Given the description of an element on the screen output the (x, y) to click on. 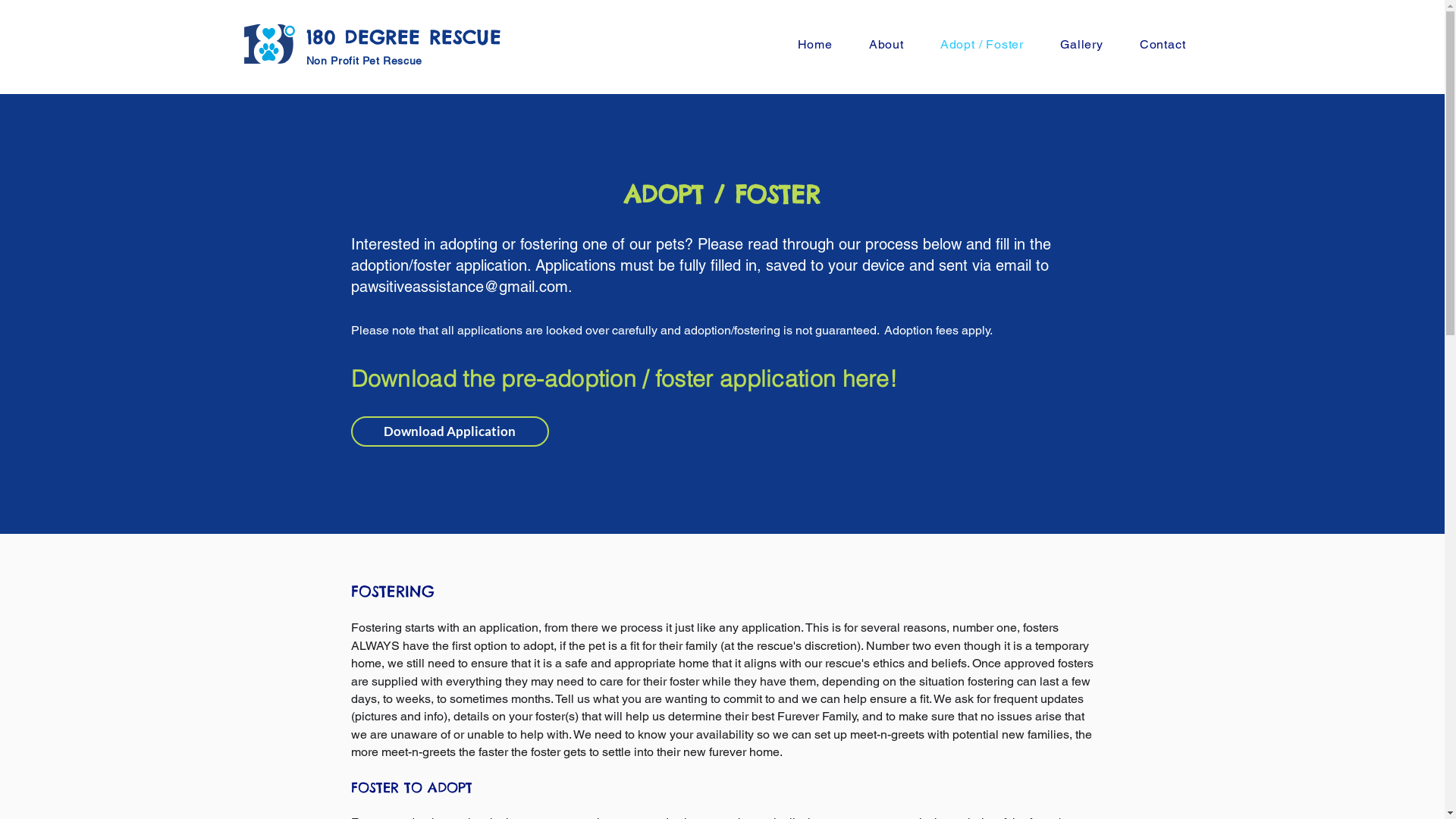
180 DEGREE RESCUE Element type: text (403, 36)
Adopt / Foster Element type: text (981, 44)
Download Application Element type: text (449, 431)
Home Element type: text (814, 44)
pawsitiveassistance@gmail.com Element type: text (458, 286)
Non Profit Pet Rescue Element type: text (364, 60)
About Element type: text (886, 44)
Contact Element type: text (1162, 44)
Gallery Element type: text (1081, 44)
